Given the description of an element on the screen output the (x, y) to click on. 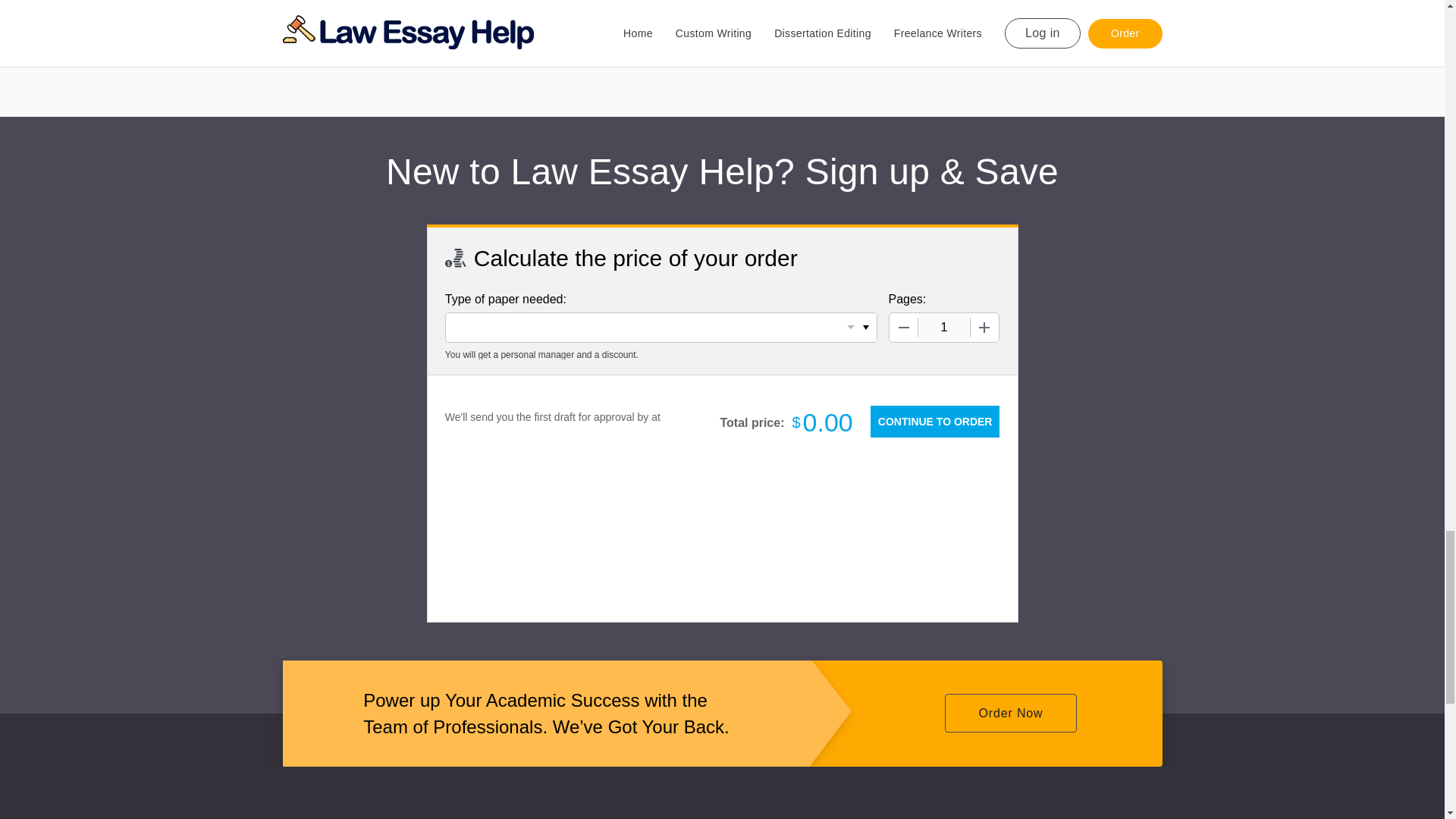
Continue to order (934, 421)
Decrease (902, 327)
Continue to Order (934, 421)
Continue to order (934, 421)
1 (943, 327)
Increase (983, 327)
Order Now (1009, 712)
